Given the description of an element on the screen output the (x, y) to click on. 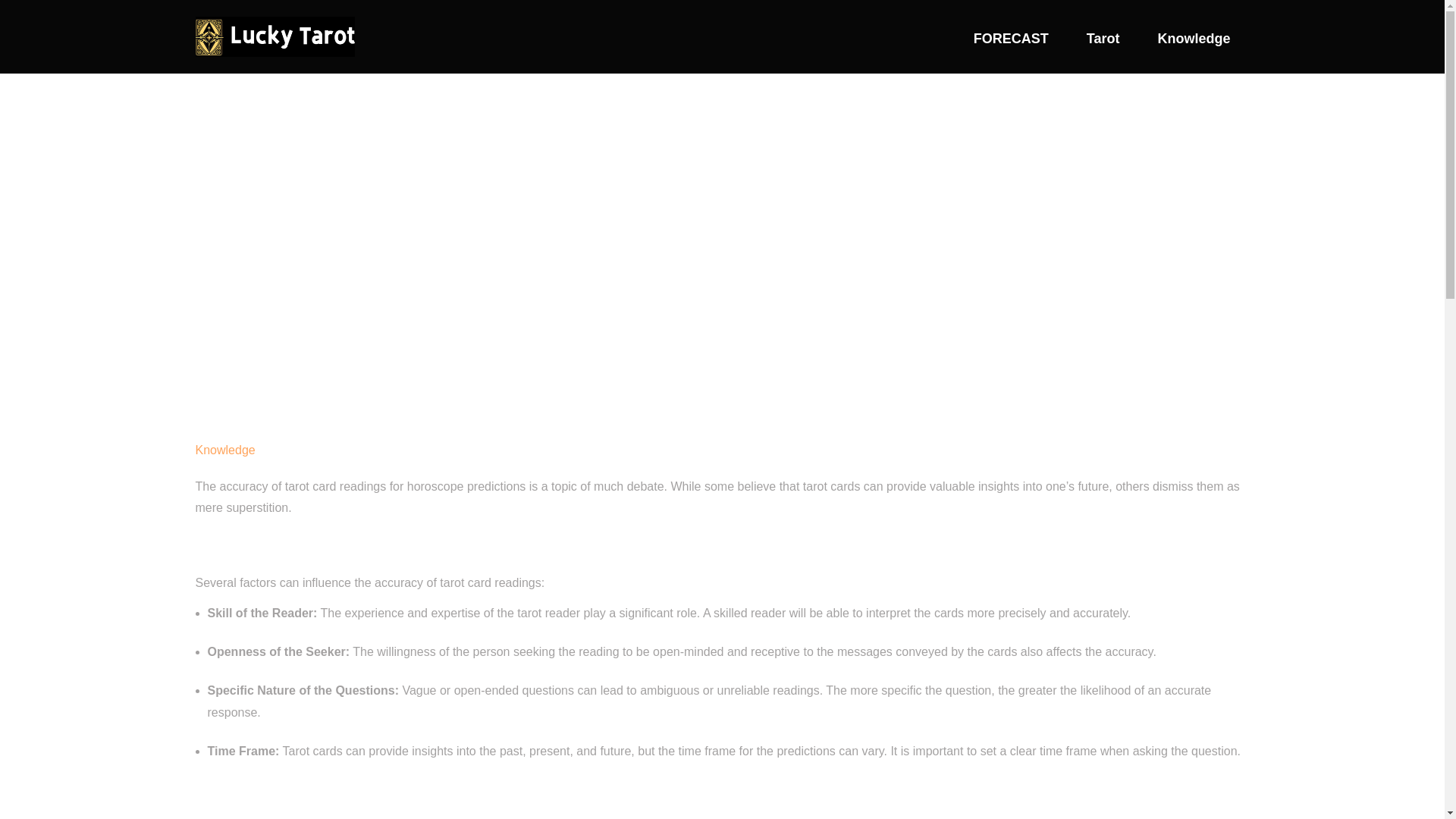
FORECAST (1011, 44)
Tarot (1102, 44)
Knowledge (225, 450)
Lucky Tarot (275, 36)
Knowledge (1193, 44)
